Given the description of an element on the screen output the (x, y) to click on. 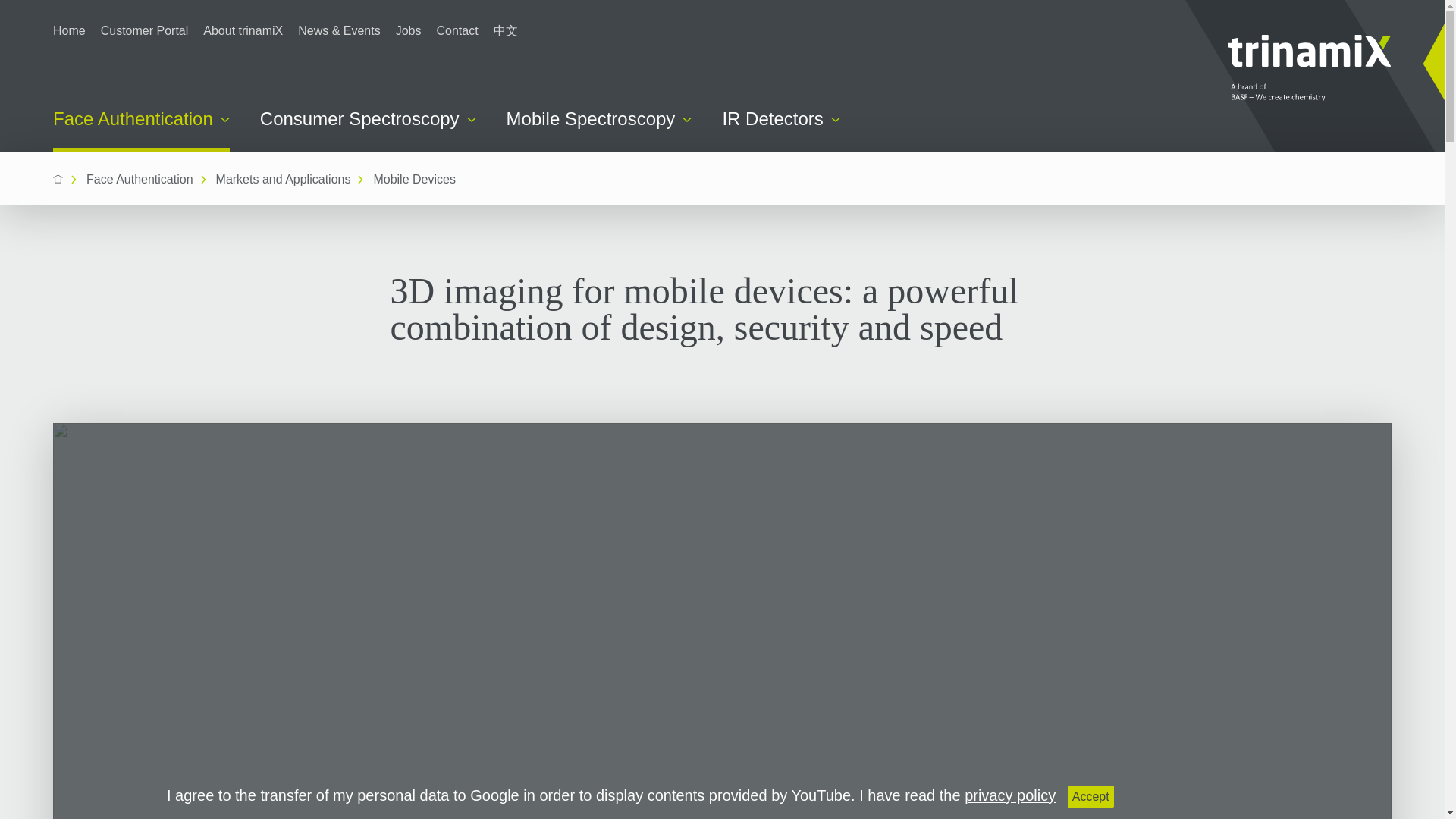
Mobile Spectroscopy (599, 118)
Home (68, 30)
Contact (457, 30)
IR Detectors (781, 118)
Face Authentication (141, 130)
Jobs (409, 30)
Customer Portal (144, 30)
Consumer Spectroscopy (368, 118)
About trinamiX (242, 30)
